Given the description of an element on the screen output the (x, y) to click on. 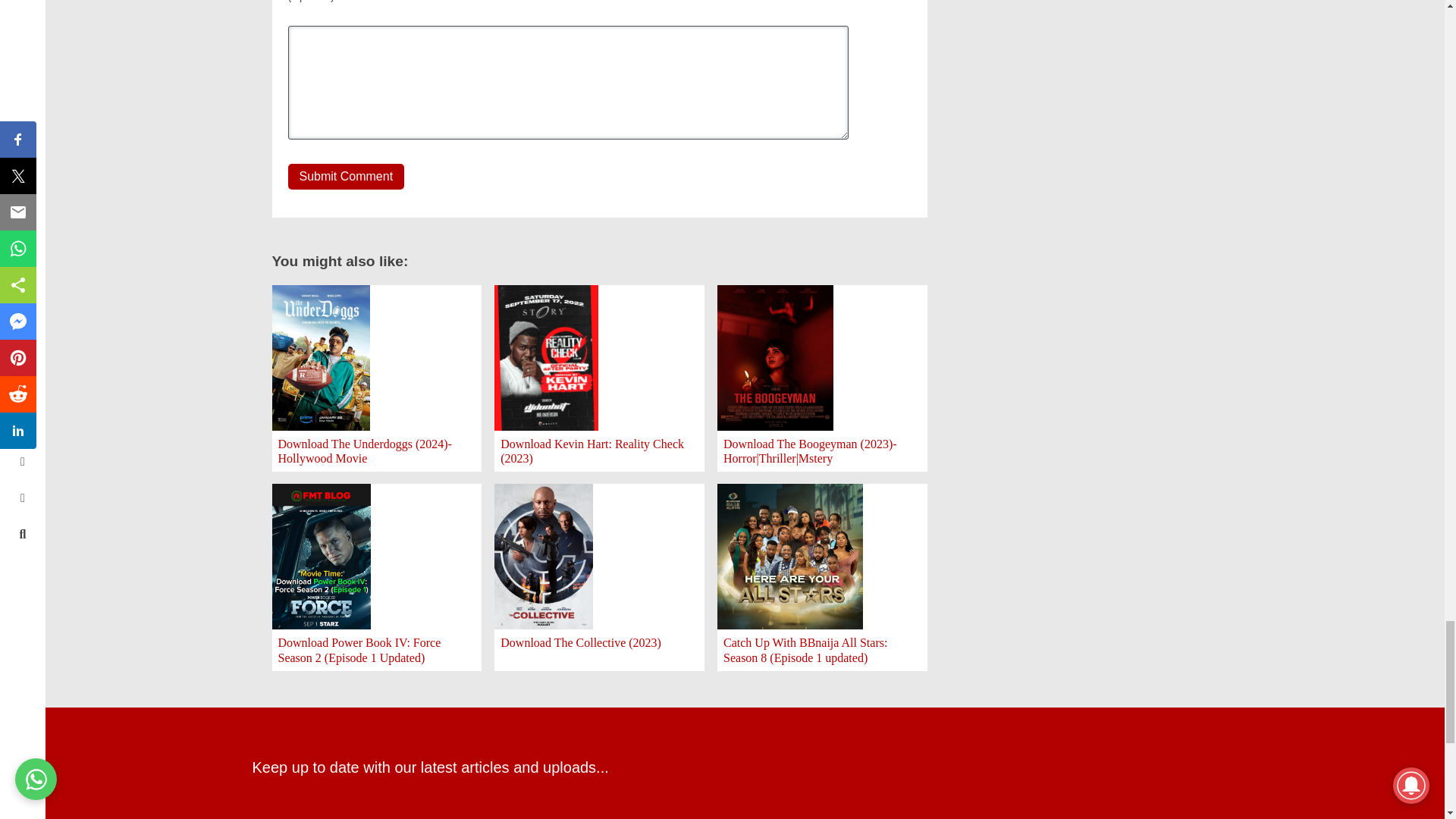
Submit Comment (346, 176)
